Given the description of an element on the screen output the (x, y) to click on. 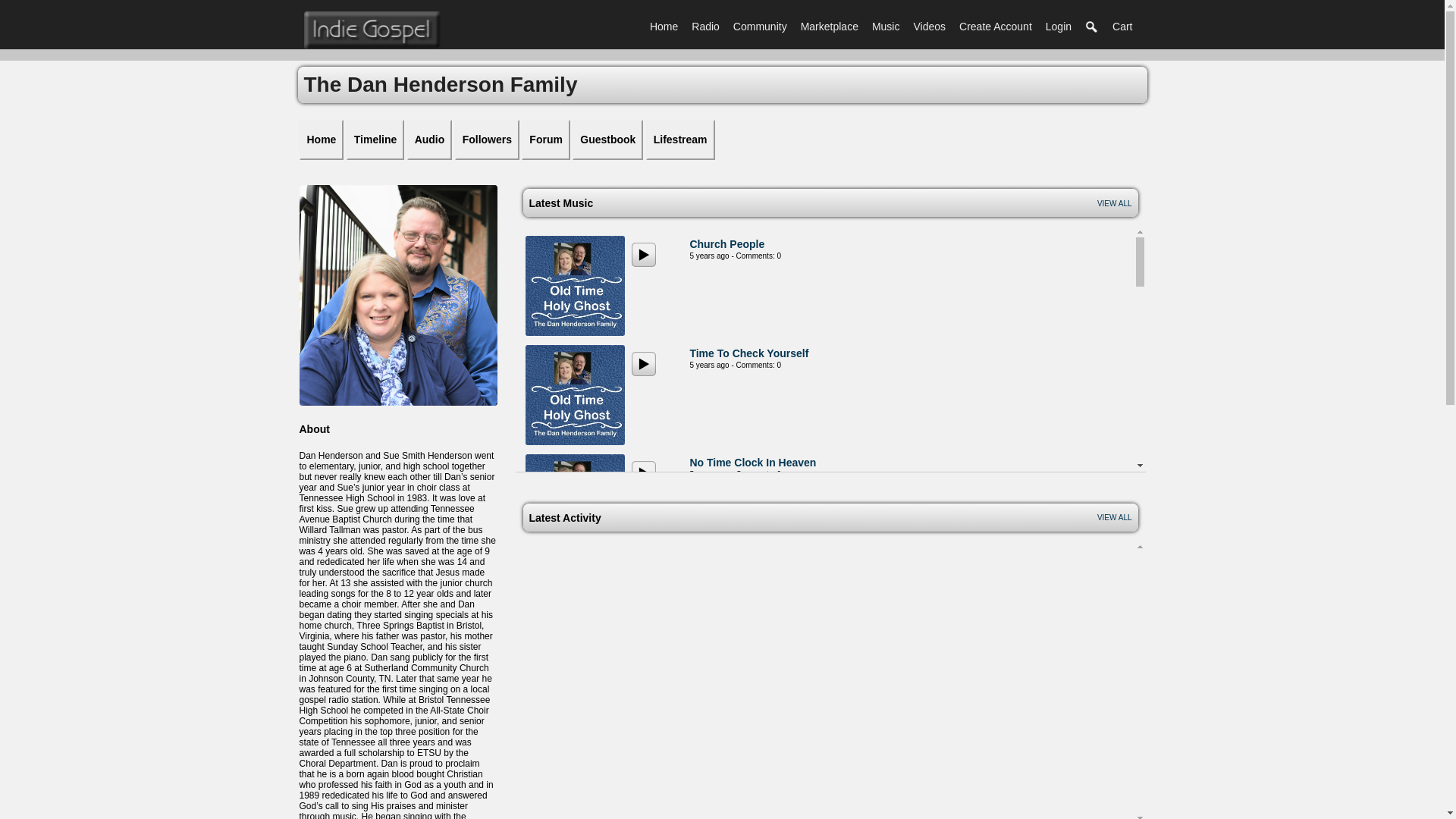
play (643, 691)
Create Account (995, 26)
Bucket List (716, 571)
Home (663, 26)
search (1091, 27)
indiegospel.net (370, 30)
play (643, 254)
play (643, 363)
play (643, 800)
Followers (486, 140)
Videos (928, 26)
Login (1058, 26)
Radio (705, 26)
Forum (545, 140)
